Given the description of an element on the screen output the (x, y) to click on. 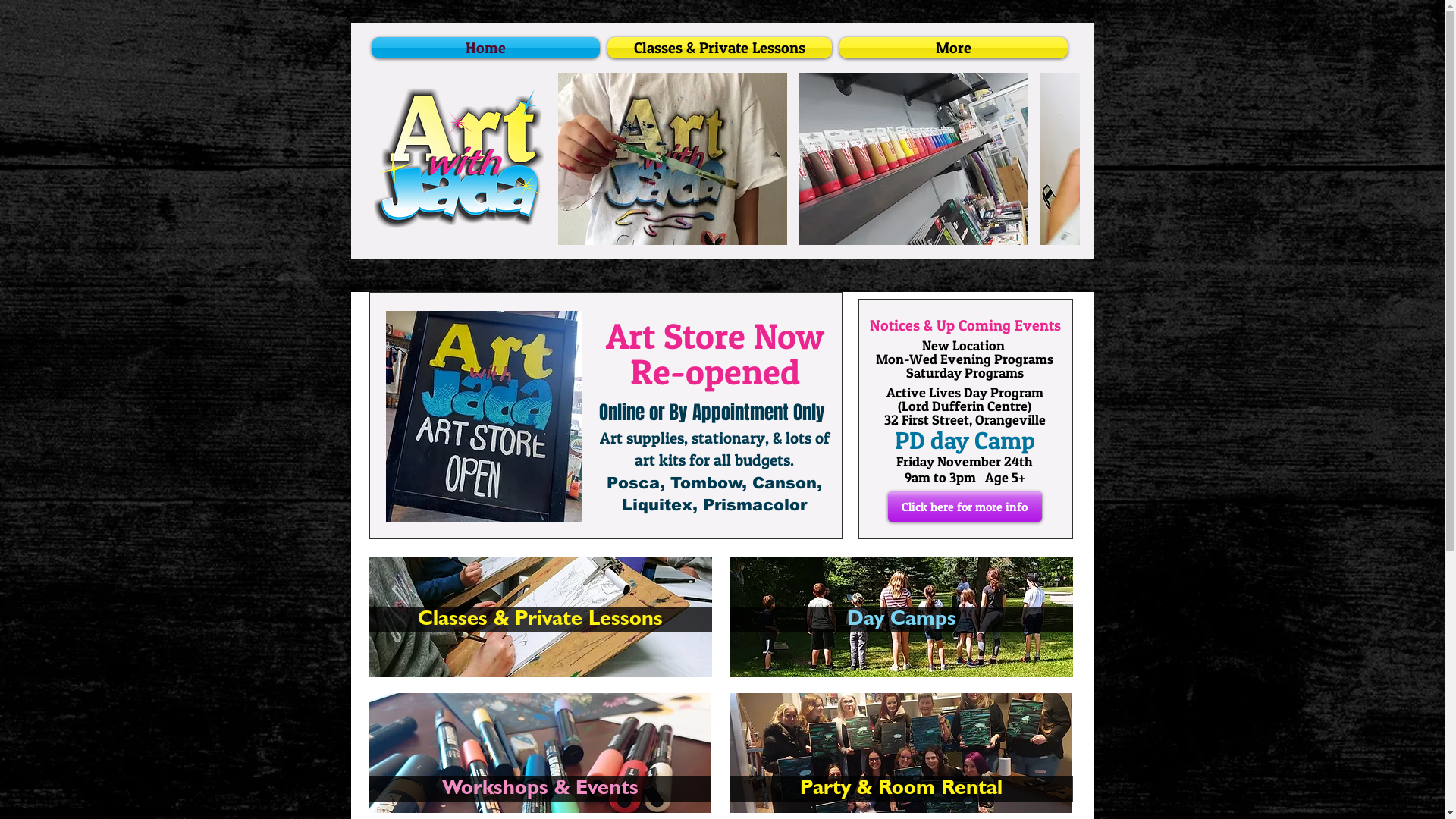
Classes & Private Lessons Element type: text (719, 47)
Home Element type: text (487, 47)
